Given the description of an element on the screen output the (x, y) to click on. 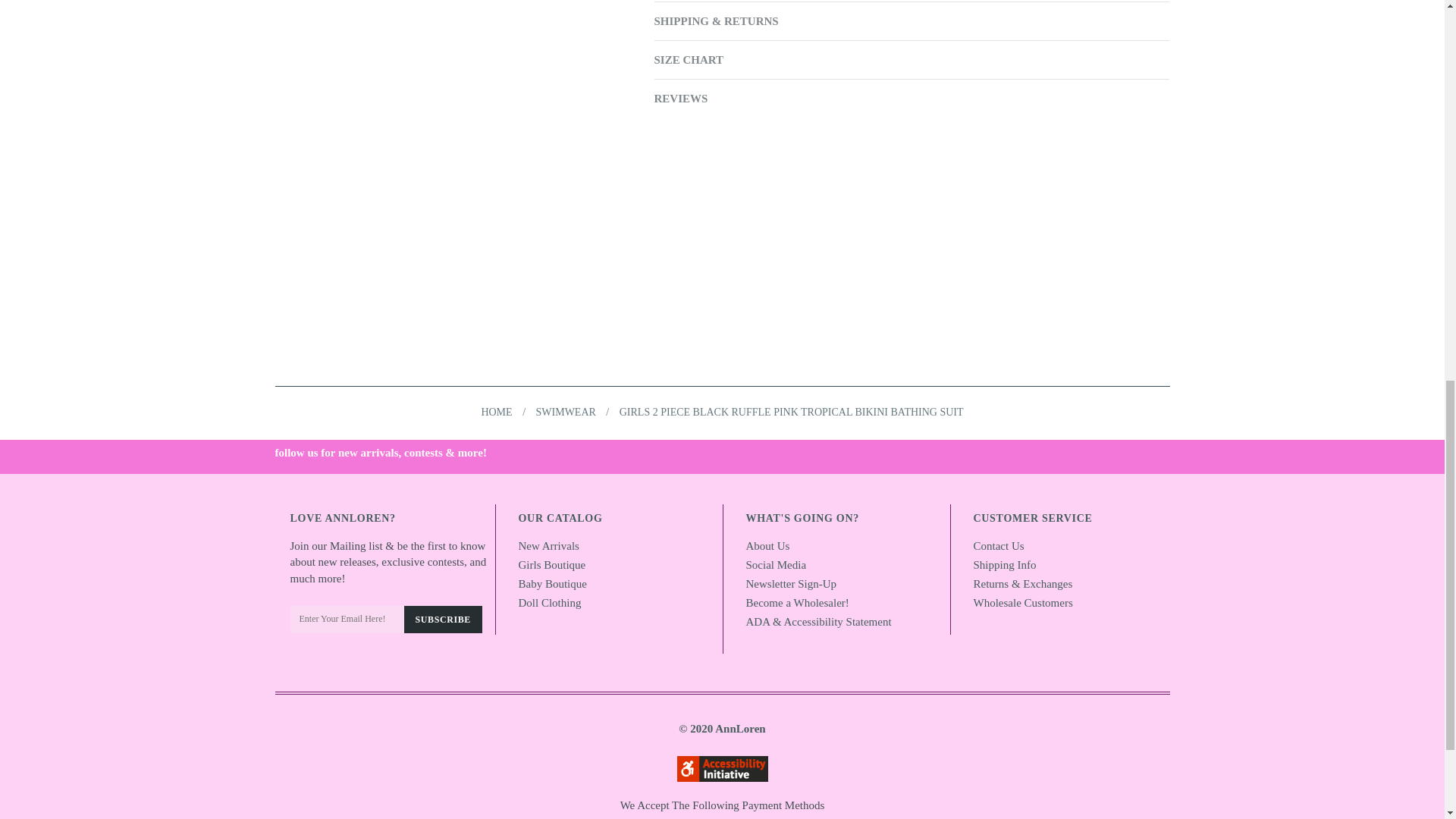
Back to the frontpage (496, 411)
About Us (767, 545)
Contact Us (999, 545)
Become a Wholesaler! (796, 603)
Girls Boutique (552, 564)
Subscribe (442, 619)
Social Media (775, 564)
Baby Boutique (552, 583)
New Arrivals (548, 545)
Newsletter Sign-Up (791, 583)
Doll Clothing (549, 603)
